Given the description of an element on the screen output the (x, y) to click on. 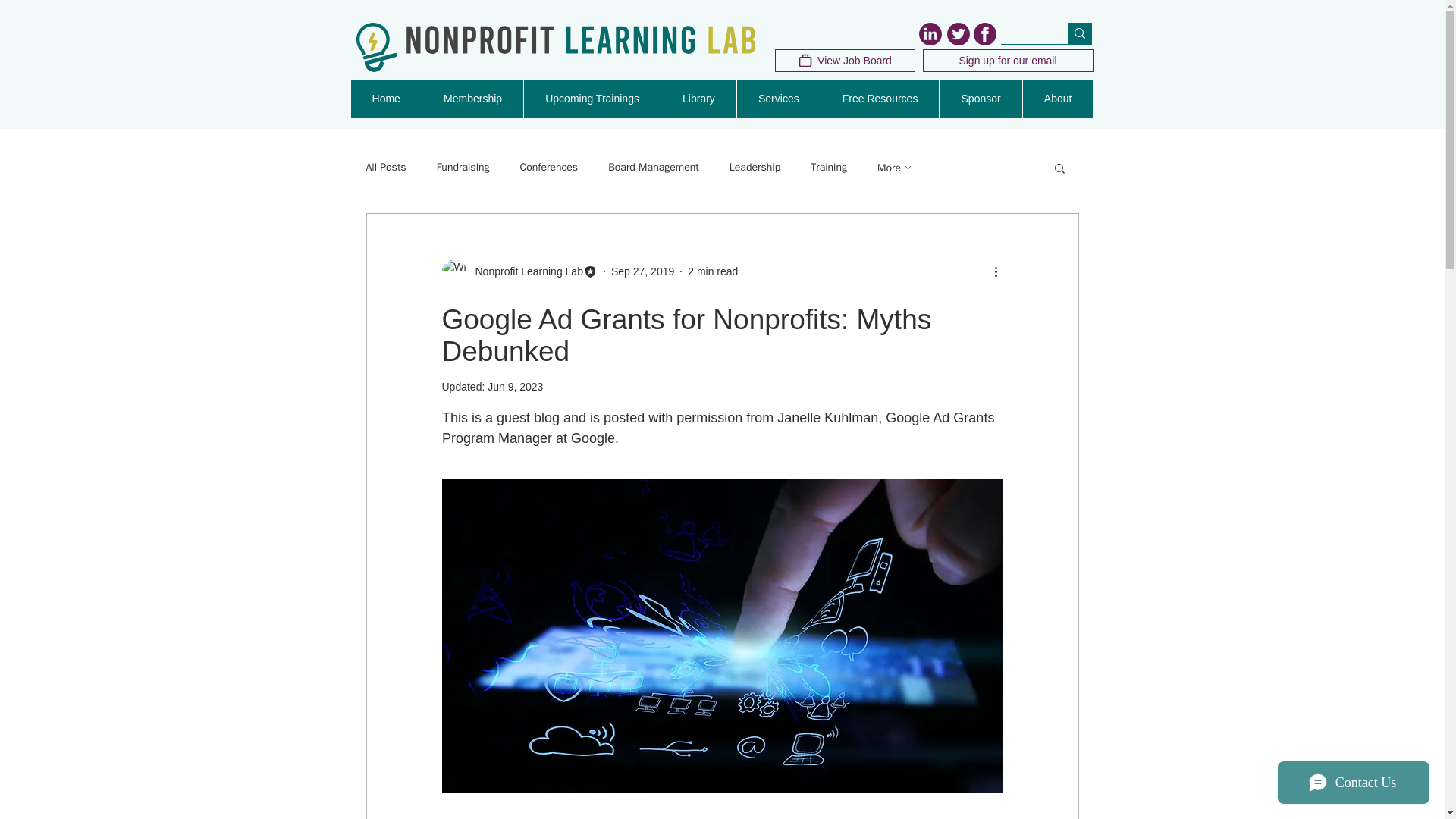
Services (778, 98)
Home (386, 98)
Sep 27, 2019 (642, 271)
About (1058, 98)
Library (698, 98)
Jun 9, 2023 (515, 386)
Sign up for our email (1007, 60)
Upcoming Trainings (592, 98)
2 min read (712, 271)
Membership (473, 98)
View Job Board (844, 60)
Sponsor (980, 98)
Nonprofit Learning Lab (523, 271)
Free Resources (880, 98)
